Given the description of an element on the screen output the (x, y) to click on. 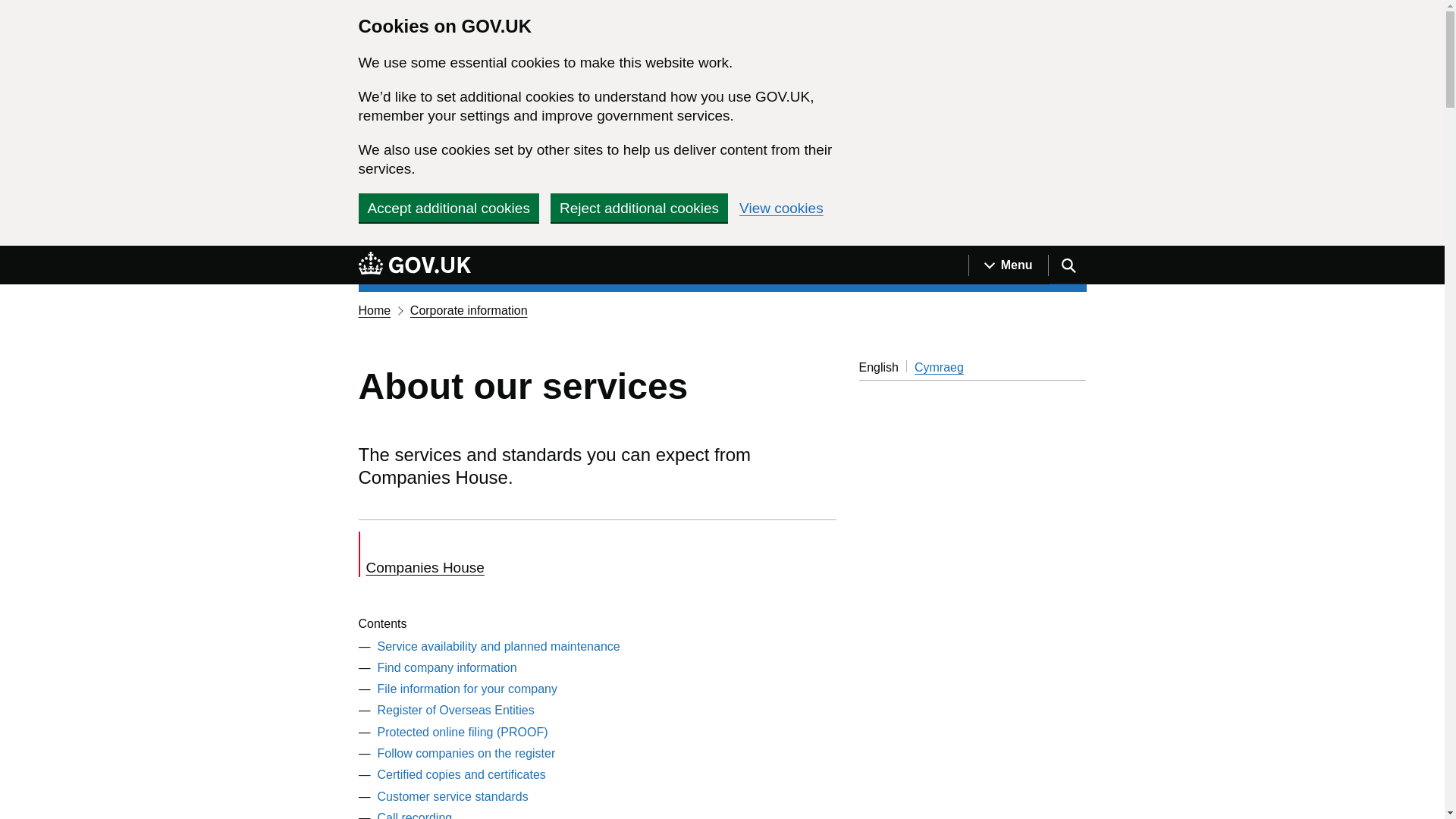
Search GOV.UK (1067, 265)
Cymraeg (938, 367)
Skip to main content (11, 254)
File information for your company (467, 688)
Home (374, 309)
GOV.UK (414, 262)
Customer service standards (452, 796)
Reject additional cookies (639, 207)
Companies House (477, 554)
GOV.UK (414, 264)
